Given the description of an element on the screen output the (x, y) to click on. 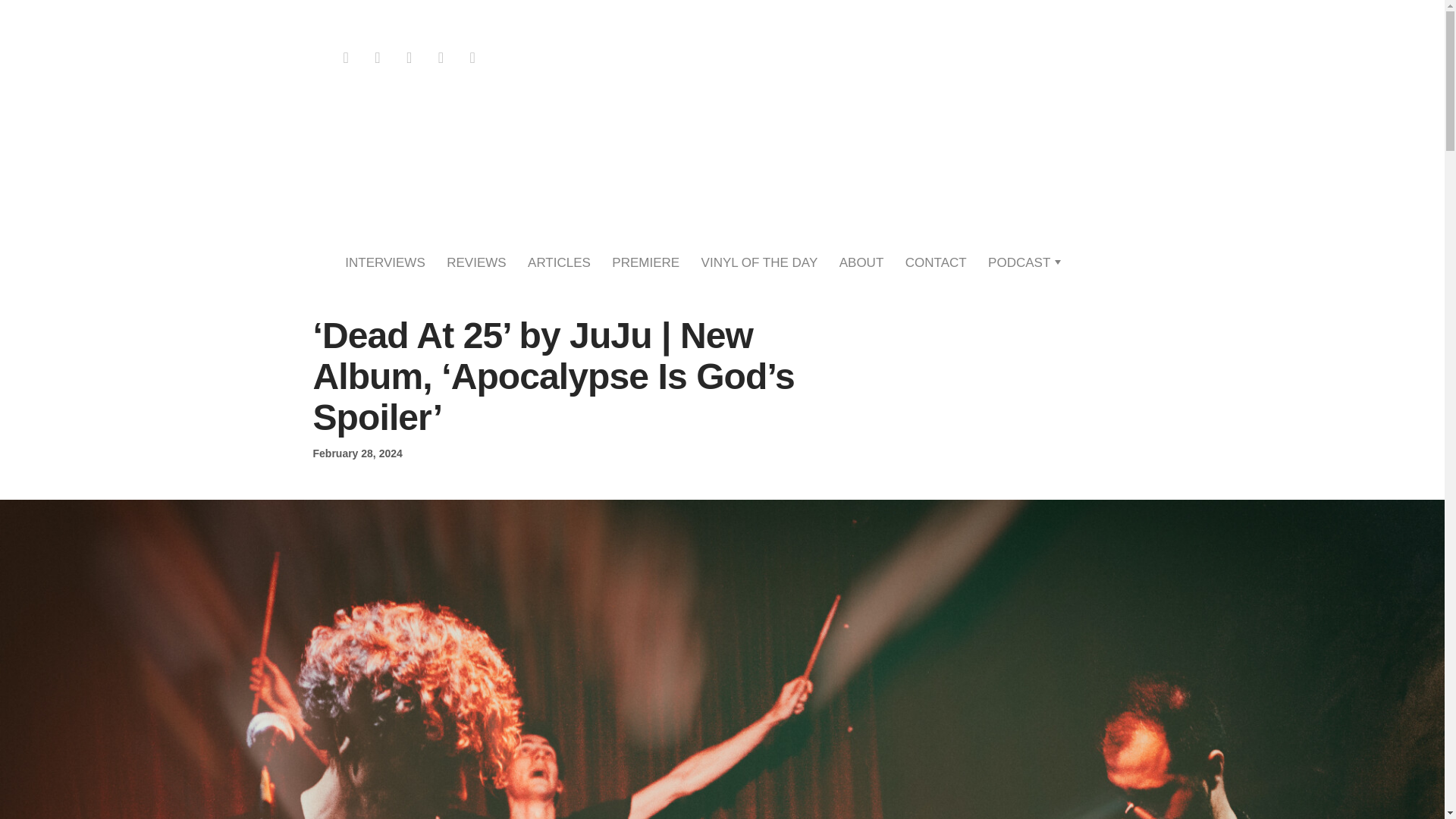
REVIEWS (475, 262)
PREMIERE (645, 262)
VINYL OF THE DAY (759, 262)
PODCAST (1018, 262)
It's Psychedelic Baby Magazine (722, 153)
CONTACT (935, 262)
ABOUT (861, 262)
ARTICLES (559, 262)
INTERVIEWS (385, 262)
